Given the description of an element on the screen output the (x, y) to click on. 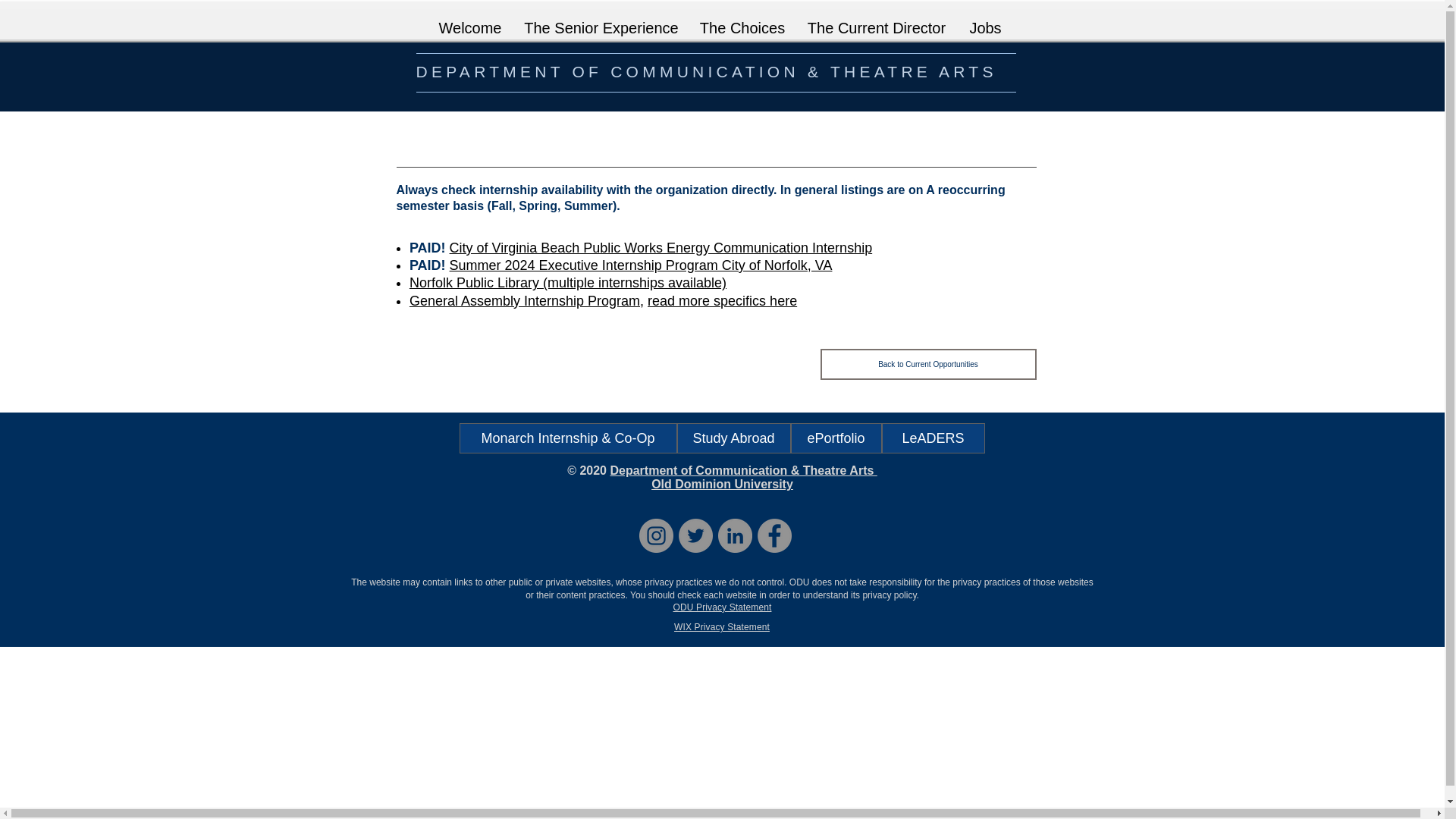
read more specifics here (721, 300)
The Current Director (877, 21)
General Assembly Internship Program (524, 300)
Welcome (469, 21)
Jobs (984, 21)
WIX Privacy Statement (722, 626)
Study Abroad (733, 438)
The Senior Experience (600, 21)
LeADERS (932, 438)
ePortfolio (835, 438)
Old Dominion University (721, 483)
ODU Privacy Statement (721, 606)
Summer 2024 Executive Internship Program City of Norfolk, VA (640, 264)
Back to Current Opportunities (928, 364)
